Given the description of an element on the screen output the (x, y) to click on. 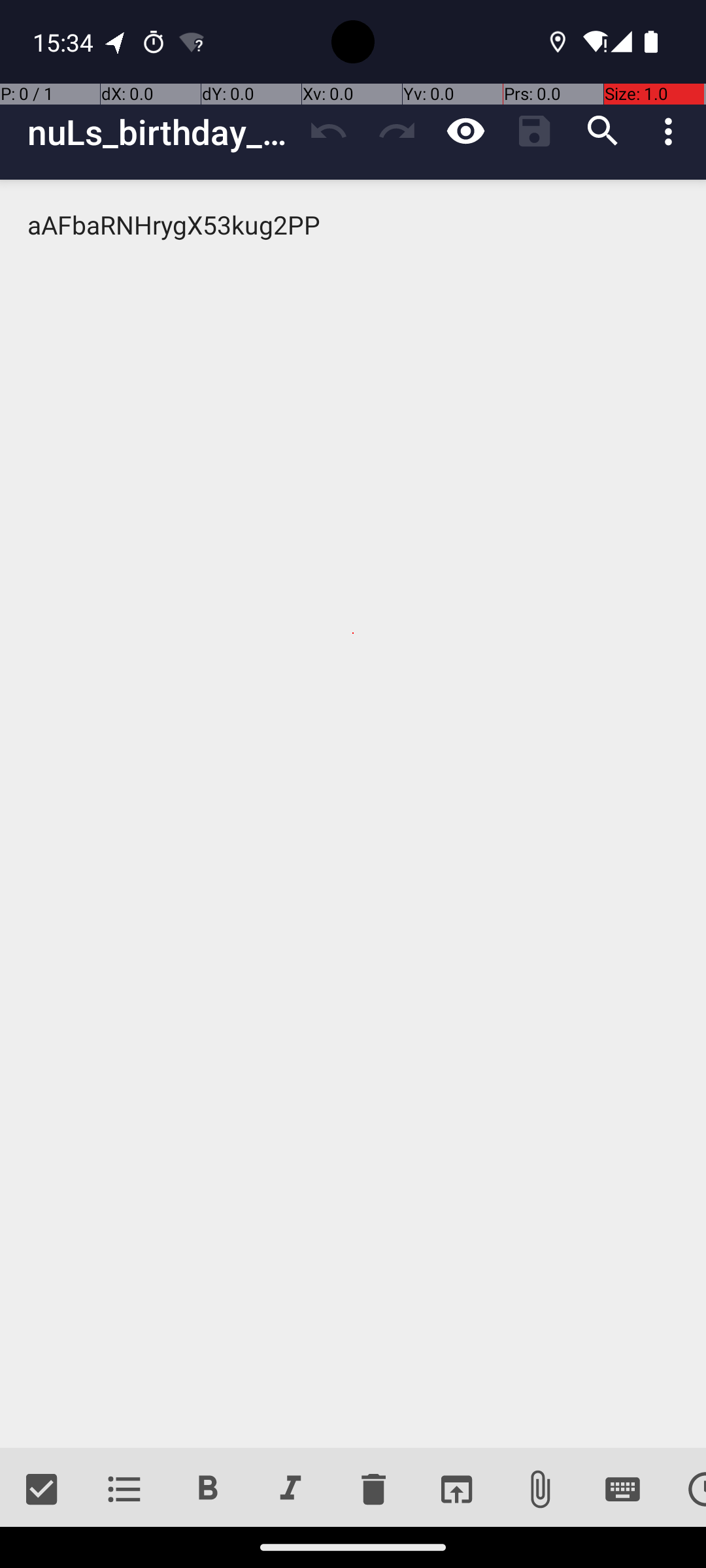
nuLs_birthday_gift_ideas_mom Element type: android.widget.TextView (160, 131)
aAFbaRNHrygX53kug2PP
 Element type: android.widget.EditText (353, 813)
